Given the description of an element on the screen output the (x, y) to click on. 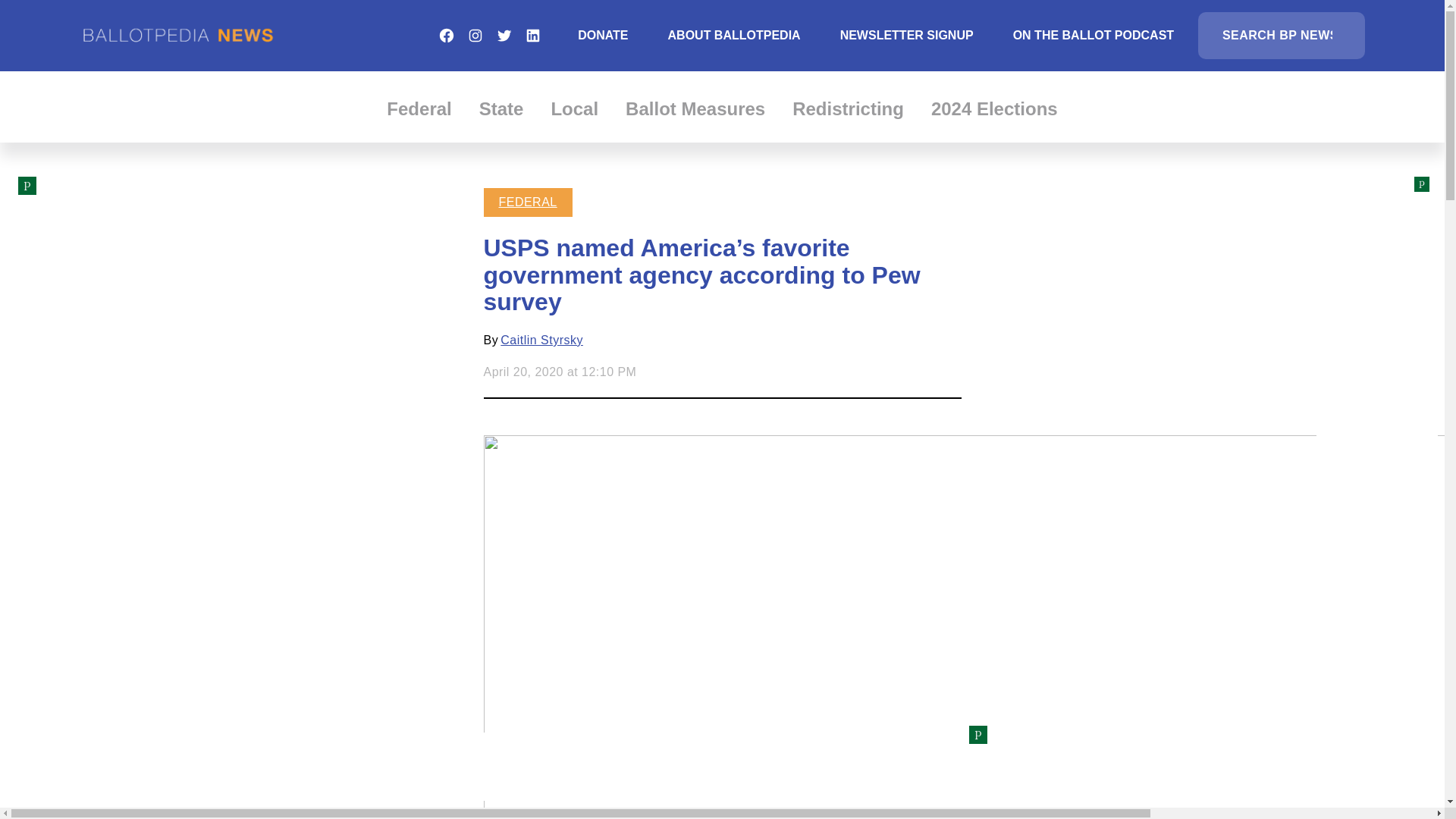
Local (574, 108)
DONATE (602, 35)
Ballot Measures (695, 108)
FEDERAL (528, 201)
3rd party ad content (721, 766)
LinkedIn (532, 35)
NEWSLETTER SIGNUP (906, 35)
ON THE BALLOT PODCAST (1093, 35)
Federal (419, 108)
Instagram (475, 35)
Caitlin Styrsky (541, 339)
Facebook (446, 35)
2024 Elections (994, 108)
Twitter (504, 35)
ABOUT BALLOTPEDIA (734, 35)
